Given the description of an element on the screen output the (x, y) to click on. 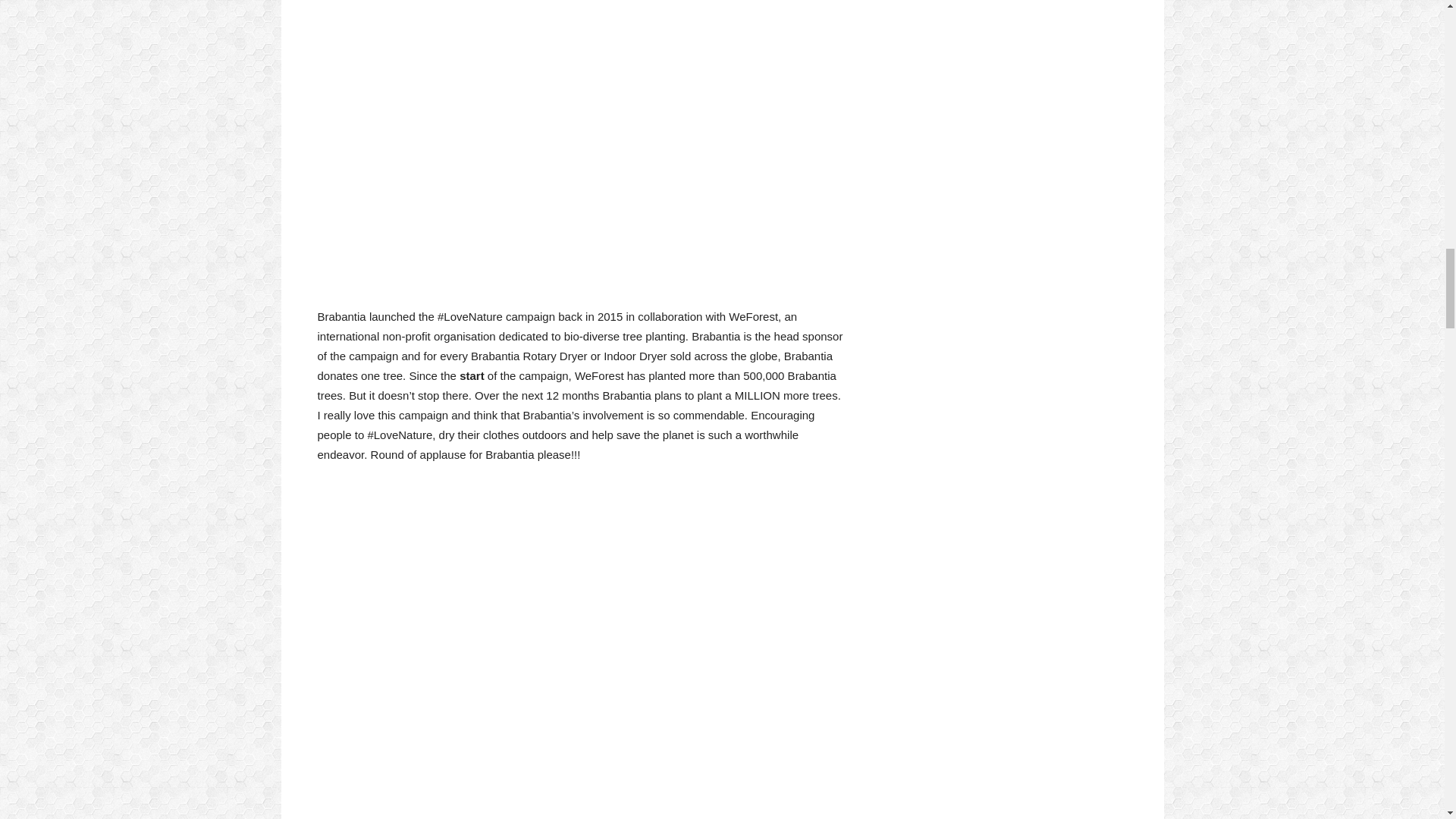
Advertisement (580, 145)
